Given the description of an element on the screen output the (x, y) to click on. 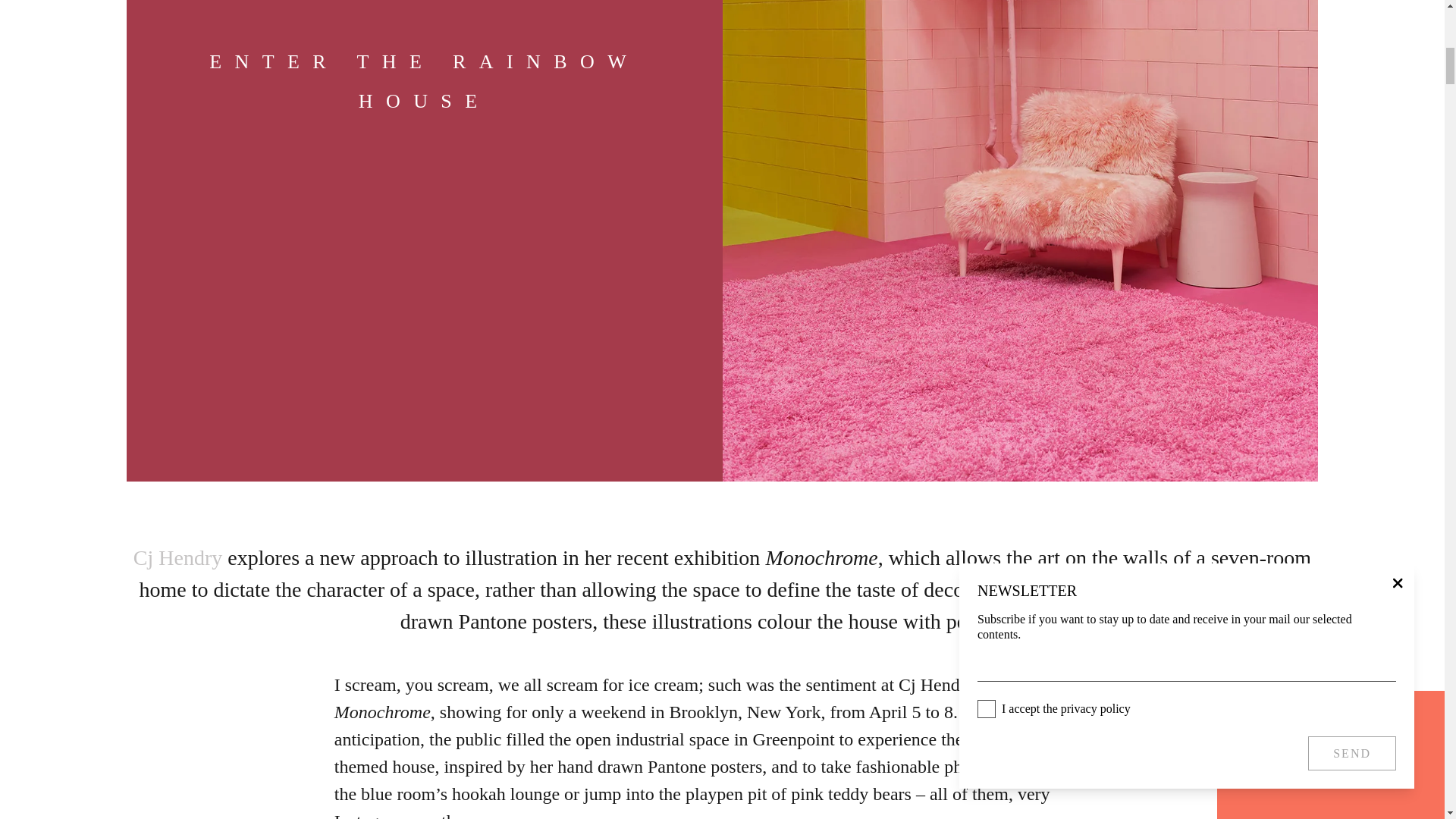
Cj Hendry (177, 557)
